Given the description of an element on the screen output the (x, y) to click on. 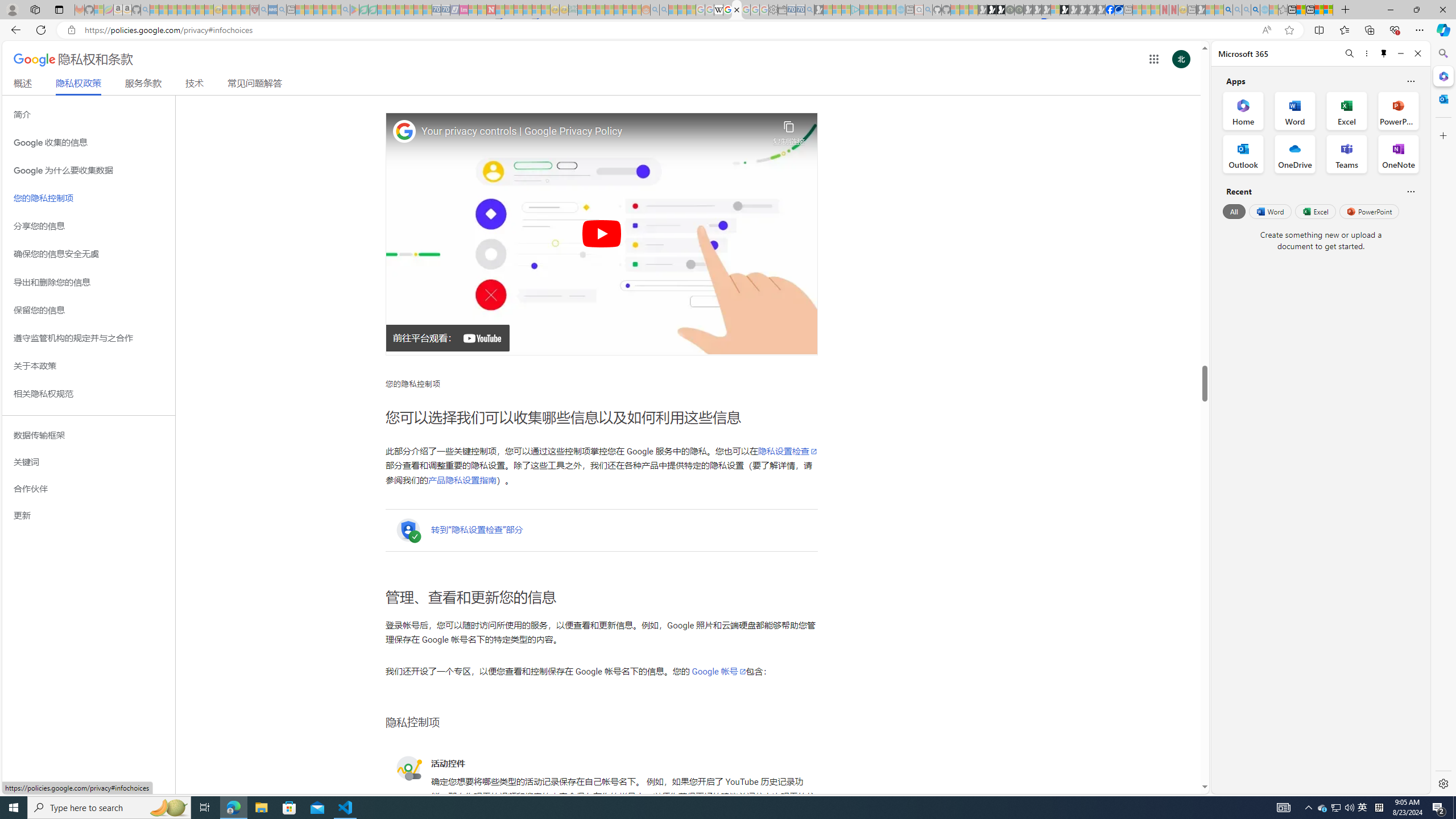
Outlook Office App (1243, 154)
All (1233, 210)
